Given the description of an element on the screen output the (x, y) to click on. 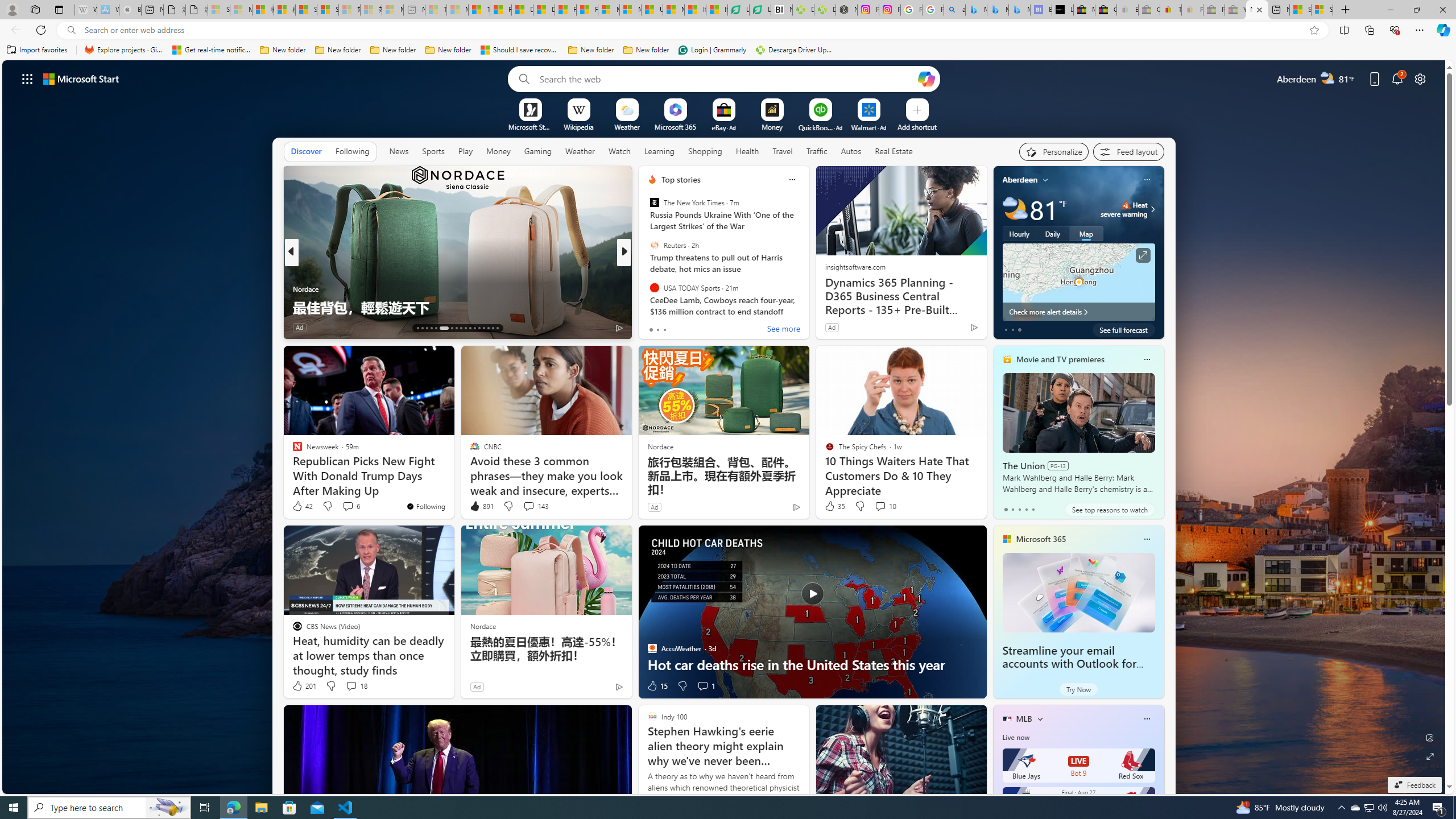
PsychLove (647, 288)
The New York Times (654, 202)
View comments 18 Comment (350, 685)
3 Like (651, 327)
insightsoftware.com (854, 266)
